Given the description of an element on the screen output the (x, y) to click on. 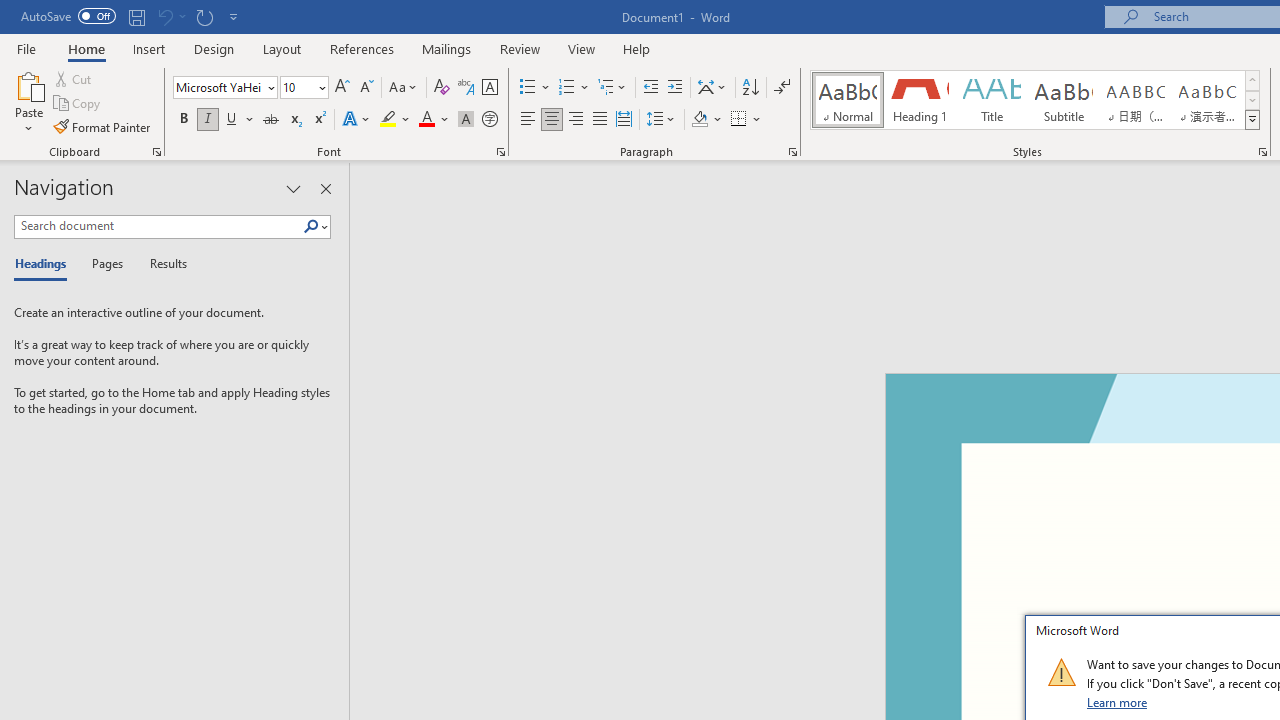
Center (552, 119)
Format Painter (103, 126)
Align Left (527, 119)
Sort... (750, 87)
Font Color Red (426, 119)
Heading 1 (920, 100)
Bold (183, 119)
Office Clipboard... (156, 151)
Distributed (623, 119)
